Given the description of an element on the screen output the (x, y) to click on. 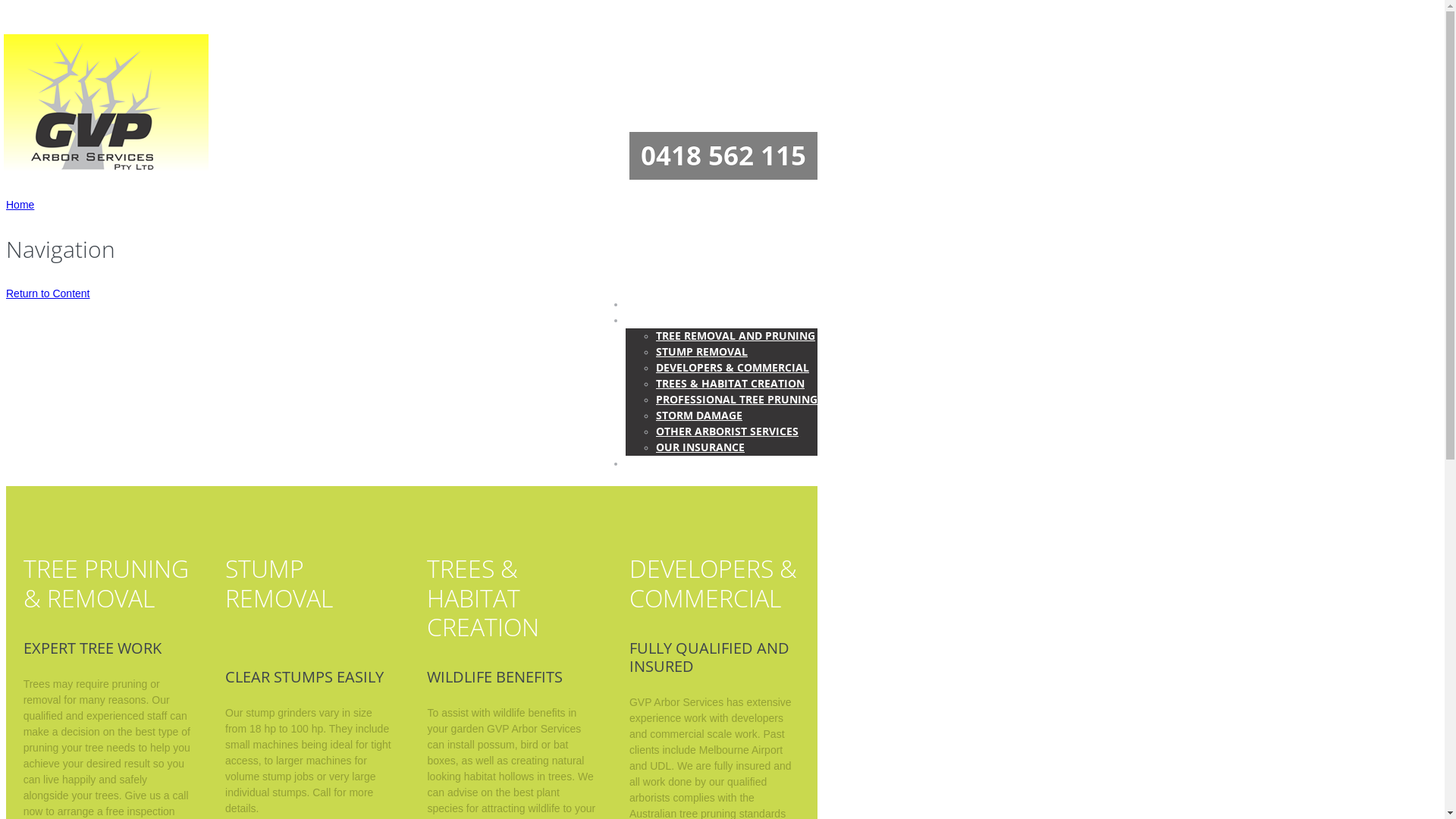
STUMP REMOVAL Element type: text (701, 351)
TREE REMOVAL AND PRUNING Element type: text (735, 335)
STORM DAMAGE Element type: text (698, 414)
Home Element type: text (20, 204)
SERVICES Element type: text (649, 319)
Navigation Element type: text (60, 64)
PROFESSIONAL TREE PRUNING Element type: text (736, 399)
HOME Element type: text (641, 303)
OUR INSURANCE Element type: text (699, 446)
TREES & HABITAT CREATION Element type: text (729, 383)
Return to Content Element type: text (48, 293)
DEVELOPERS & COMMERCIAL Element type: text (732, 367)
OTHER ARBORIST SERVICES Element type: text (726, 430)
CONTACT US Element type: text (659, 462)
